Given the description of an element on the screen output the (x, y) to click on. 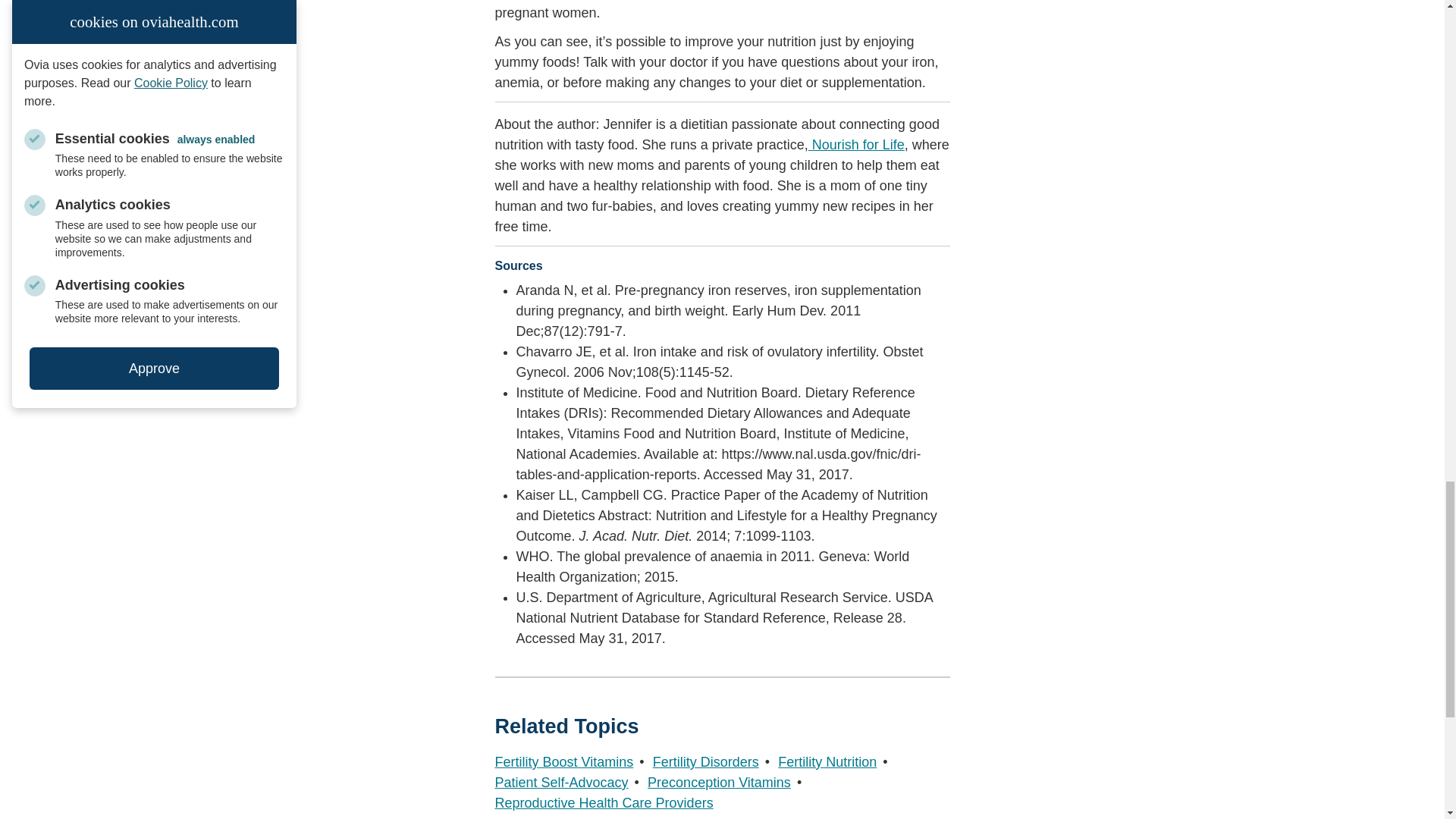
Nourish for Life (856, 144)
Preconception Vitamins (718, 782)
Fertility Disorders (705, 761)
Fertility Boost Vitamins (564, 761)
Fertility Nutrition (826, 761)
Reproductive Health Care Providers (604, 802)
Patient Self-Advocacy (561, 782)
